Given the description of an element on the screen output the (x, y) to click on. 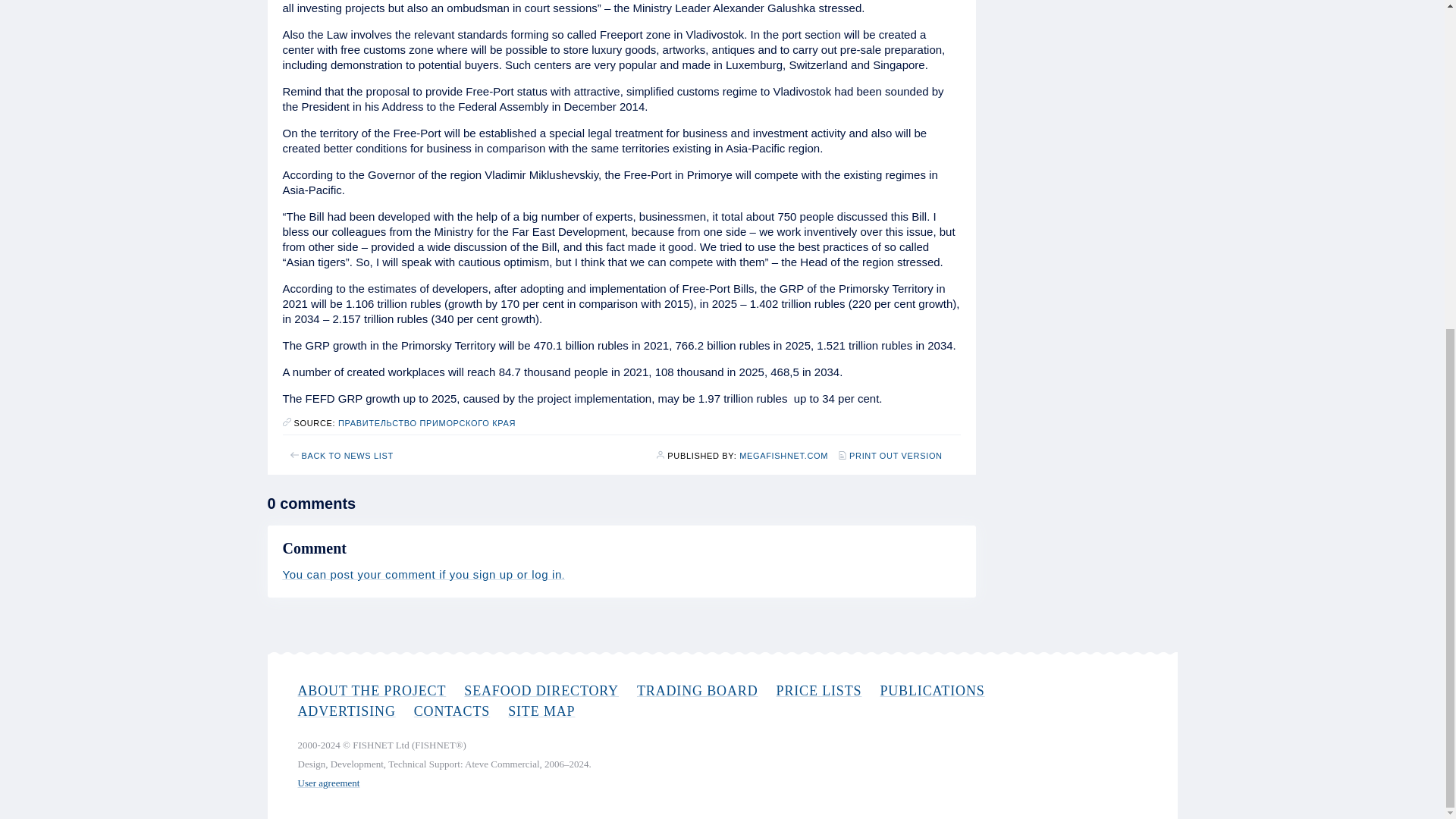
FISHNET.RU (783, 455)
